Given the description of an element on the screen output the (x, y) to click on. 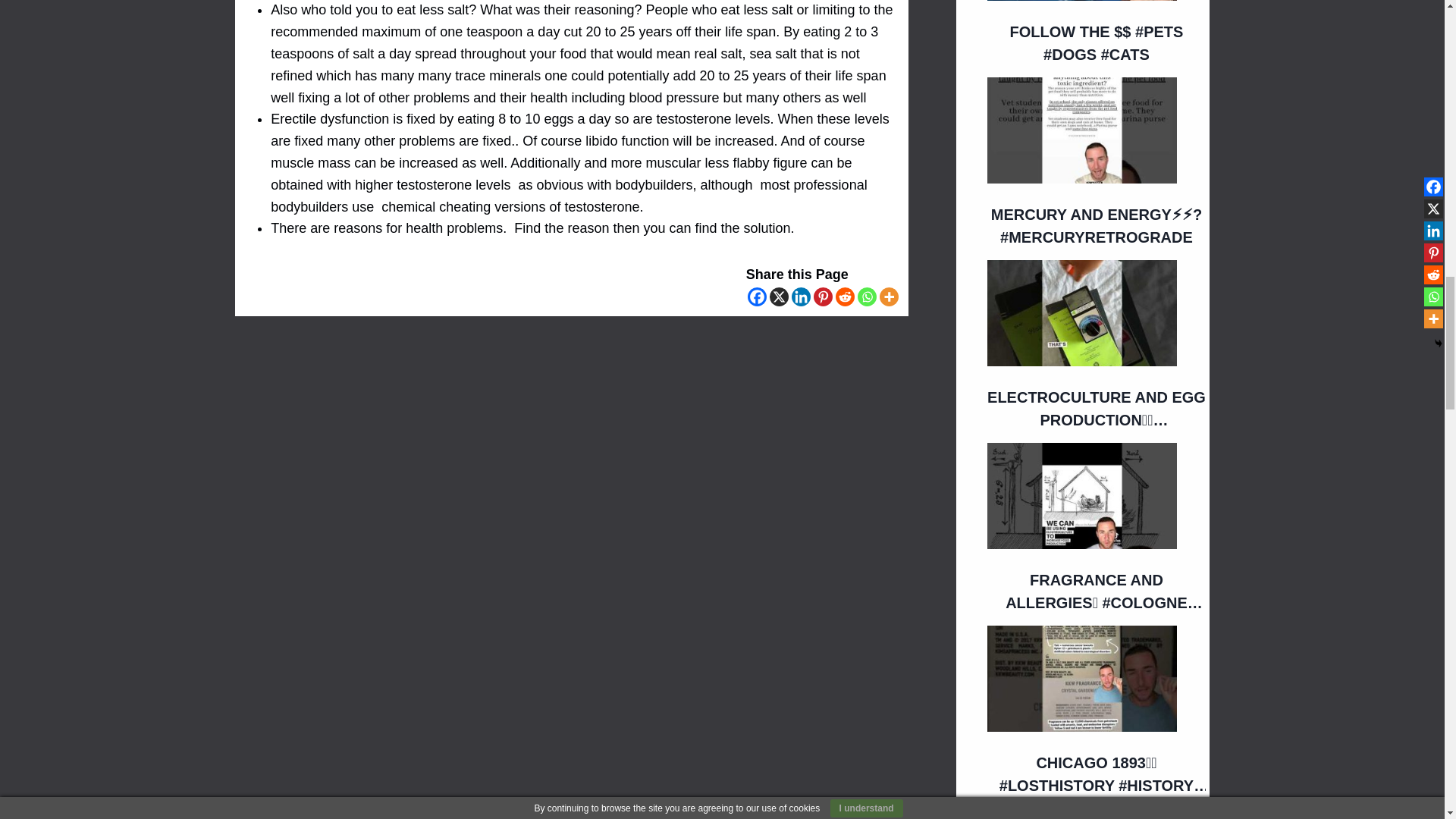
Facebook (757, 296)
Whatsapp (866, 296)
Reddit (844, 296)
X (779, 296)
Pinterest (822, 296)
Linkedin (801, 296)
More (888, 296)
